Given the description of an element on the screen output the (x, y) to click on. 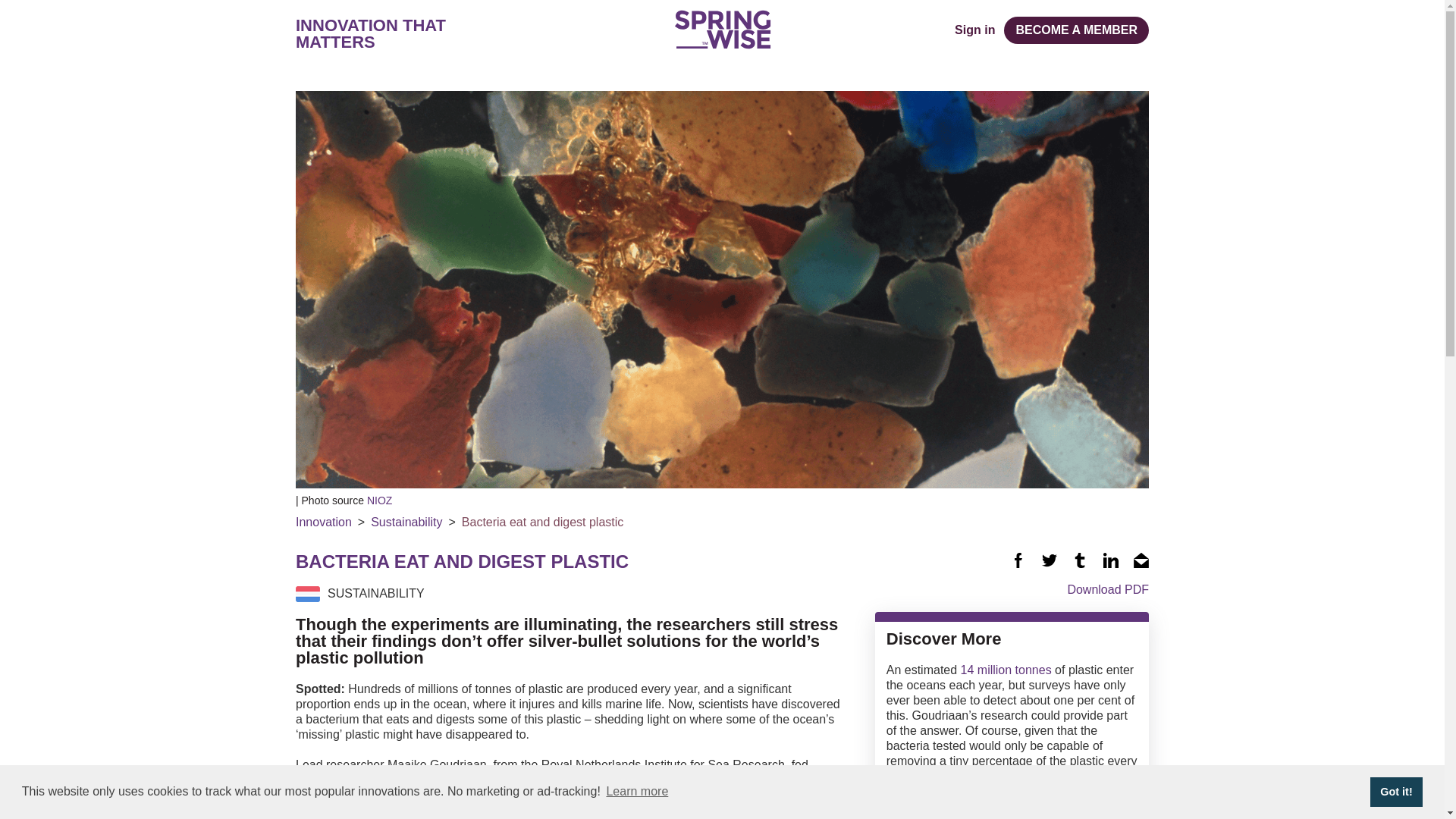
Download PDF (1011, 589)
Innovation (323, 521)
Springwise (721, 29)
Facebook (1018, 559)
Got it! (1396, 791)
BECOME A MEMBER (1076, 30)
Twitter (1049, 559)
Sustainability (406, 521)
Learn more (636, 791)
Linked In (1110, 559)
Email (1141, 559)
Tumblr (1079, 559)
NIOZ (378, 500)
Sign in (974, 30)
14 million tonnes (1005, 668)
